Given the description of an element on the screen output the (x, y) to click on. 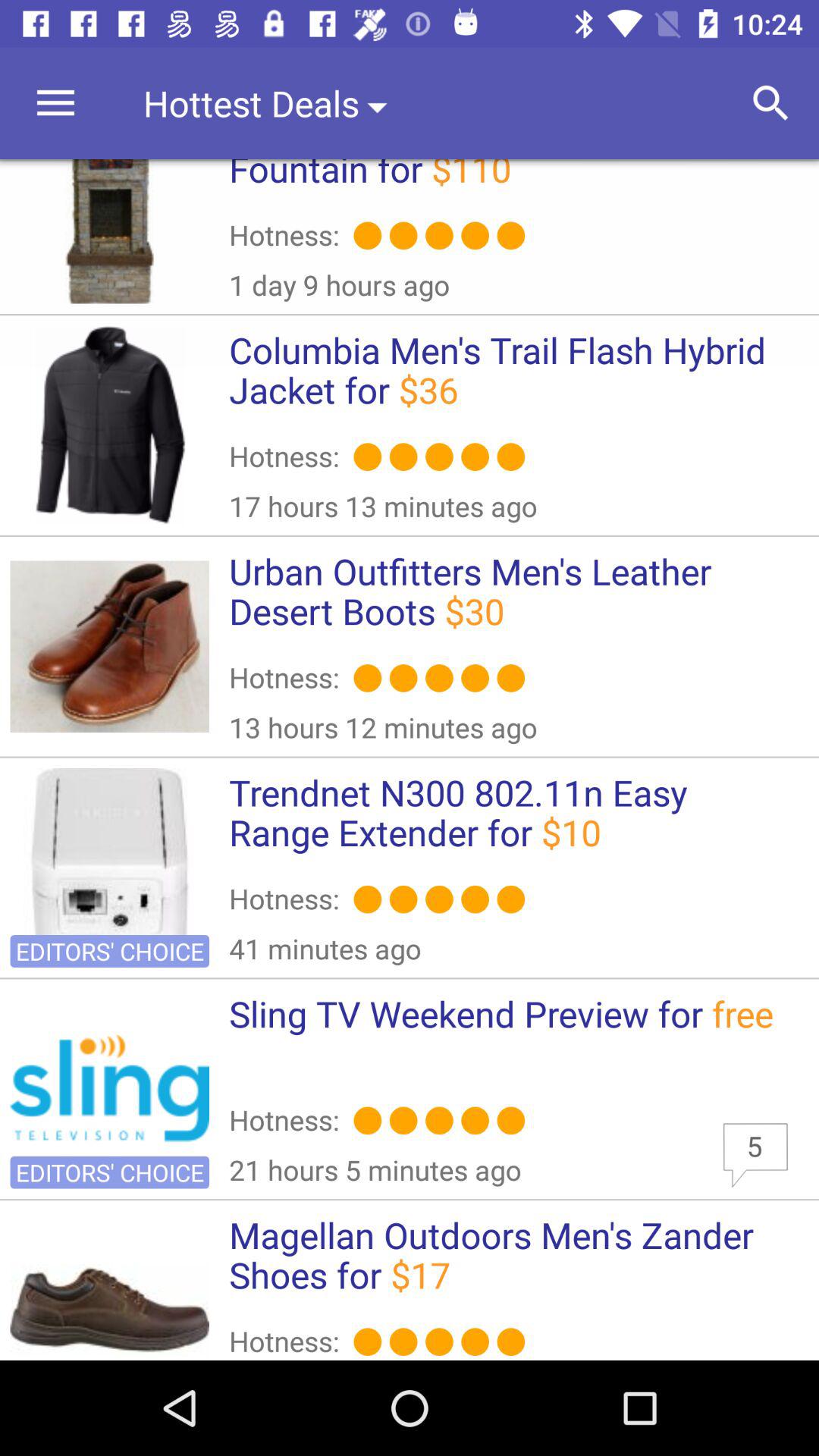
go to first option image on left side (109, 231)
select the first yellow dot in the sixth row (367, 1341)
click on the third orange color button under 6th row (439, 1341)
